Given the description of an element on the screen output the (x, y) to click on. 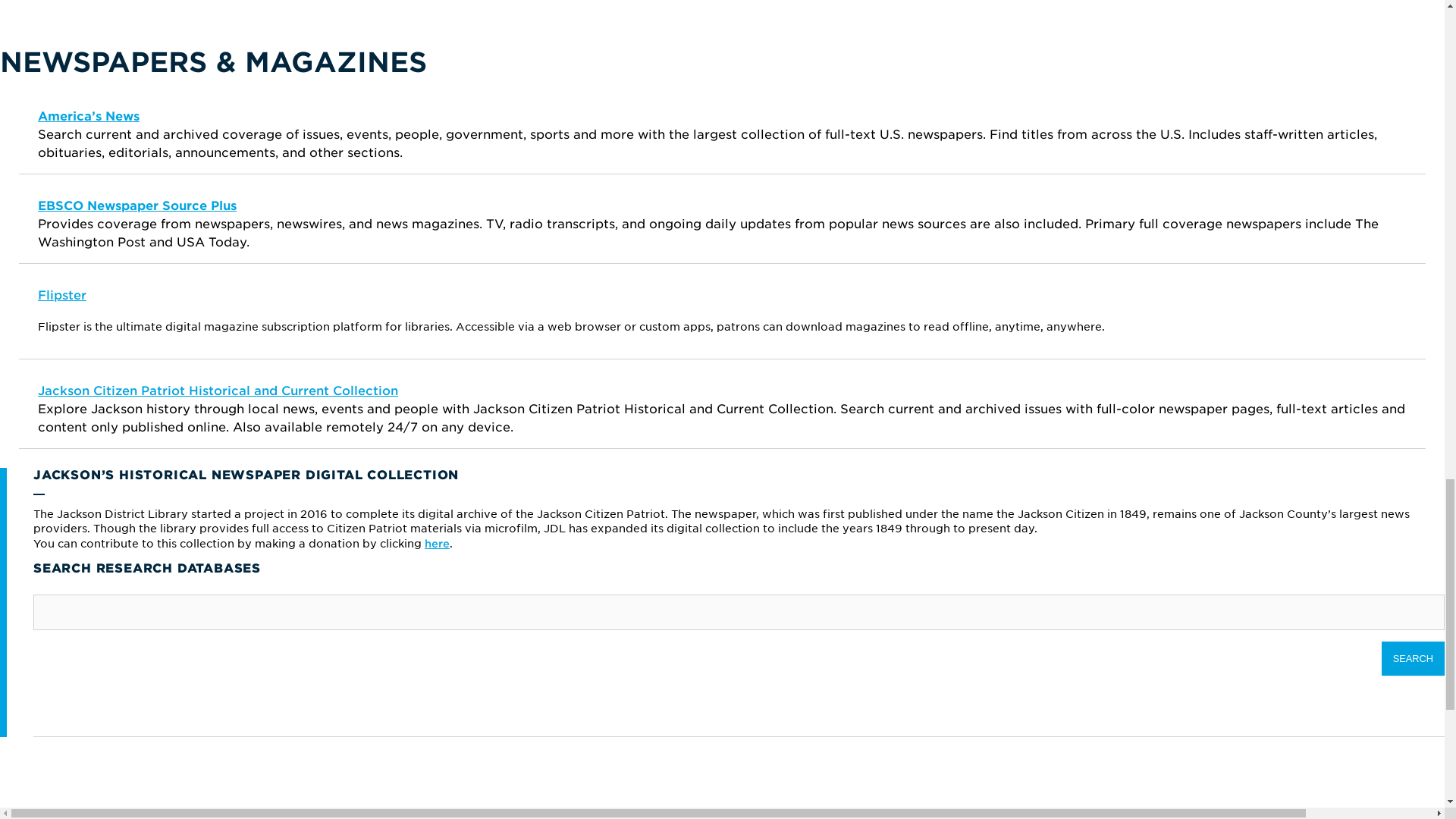
Search (1412, 658)
